Given the description of an element on the screen output the (x, y) to click on. 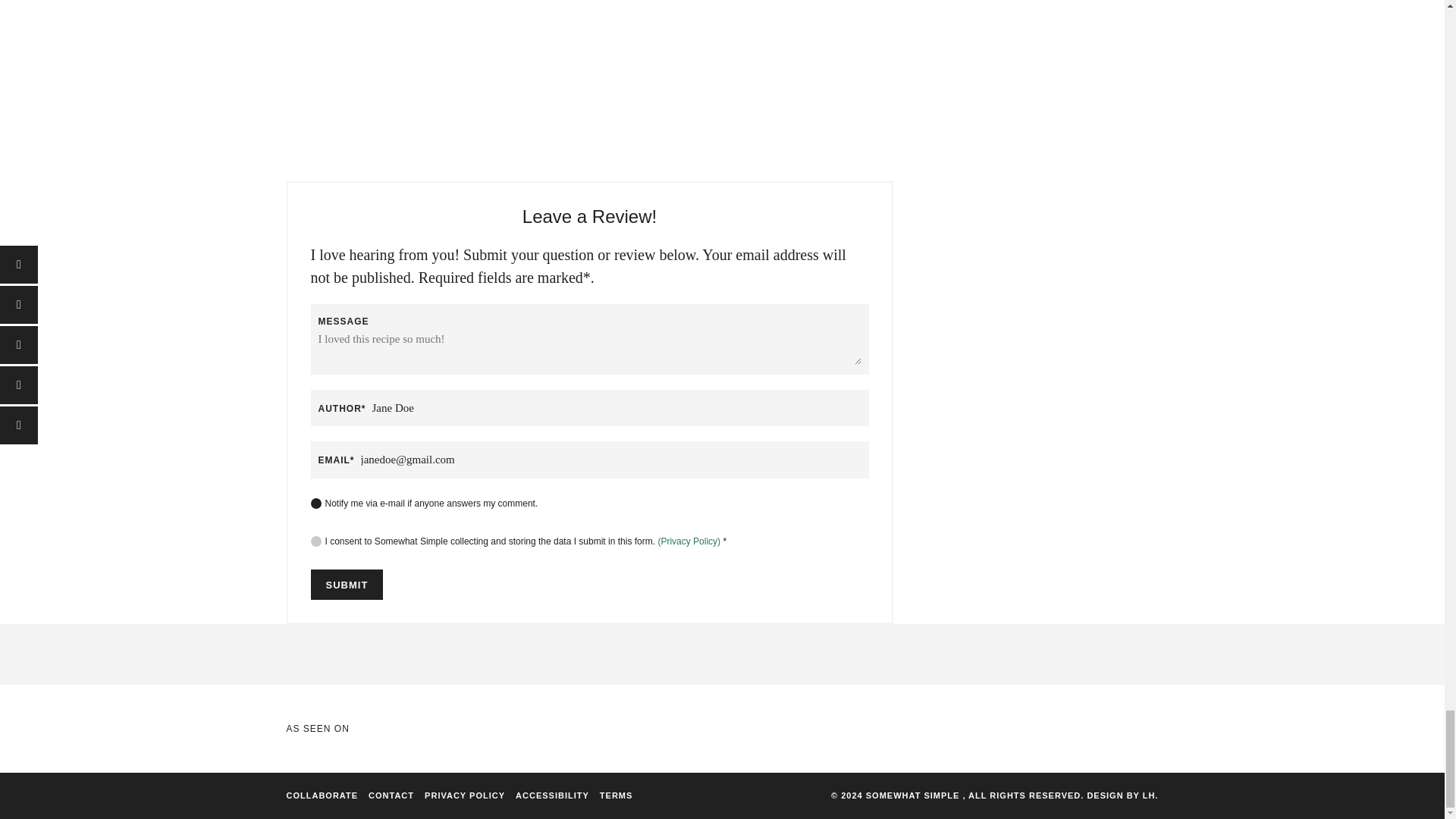
Submit (347, 584)
yes (316, 541)
on (316, 502)
